Given the description of an element on the screen output the (x, y) to click on. 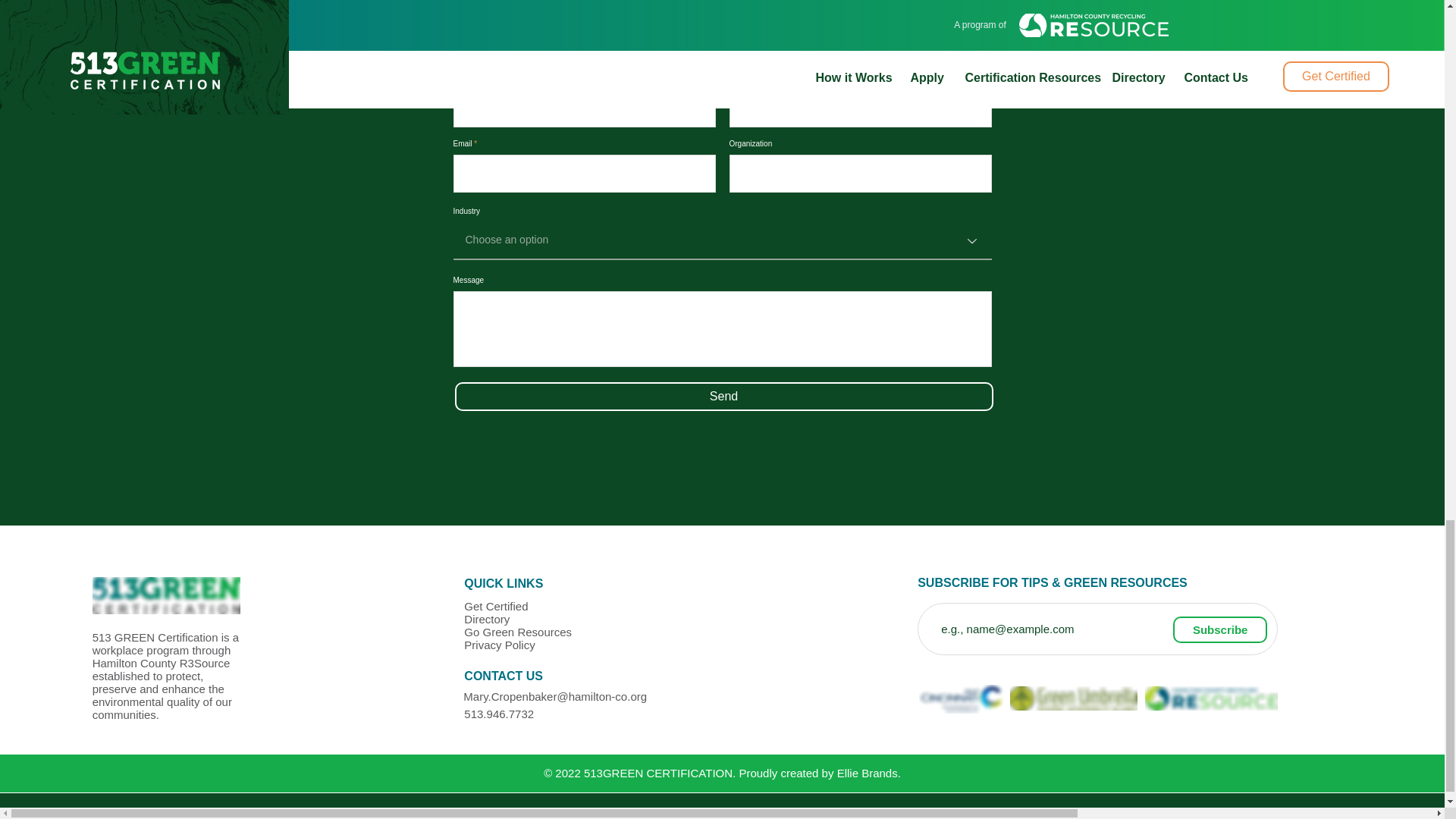
Go Green Resources (518, 631)
Ellie Brands (867, 772)
Send (723, 396)
Subscribe (1219, 629)
Directory (486, 618)
Get Certified (495, 605)
